Given the description of an element on the screen output the (x, y) to click on. 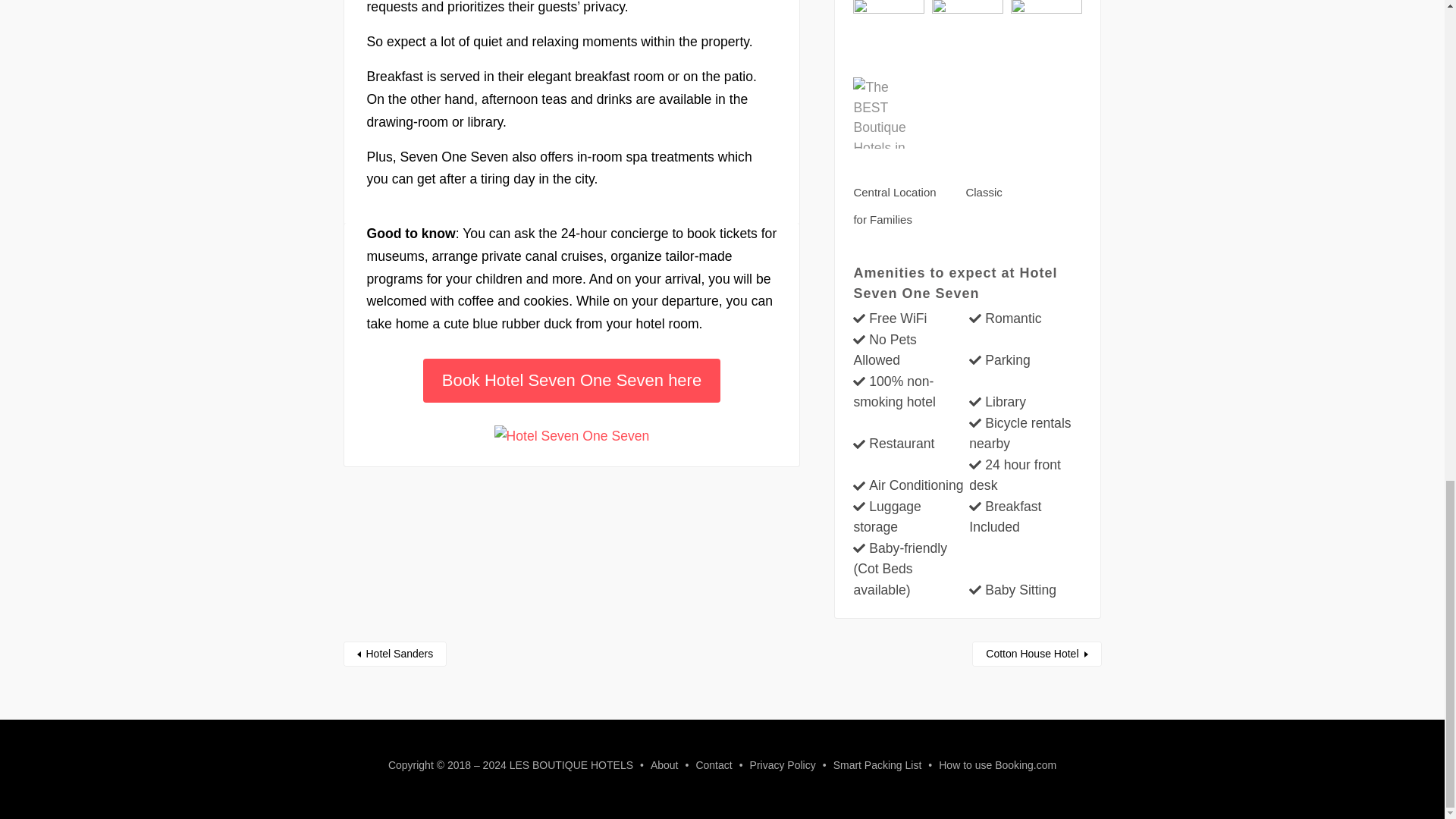
Hotel Seven One Seven (572, 435)
Booking Hotel Seven One Seven for best price (571, 381)
Hotel Seven One Seven (572, 436)
